Given the description of an element on the screen output the (x, y) to click on. 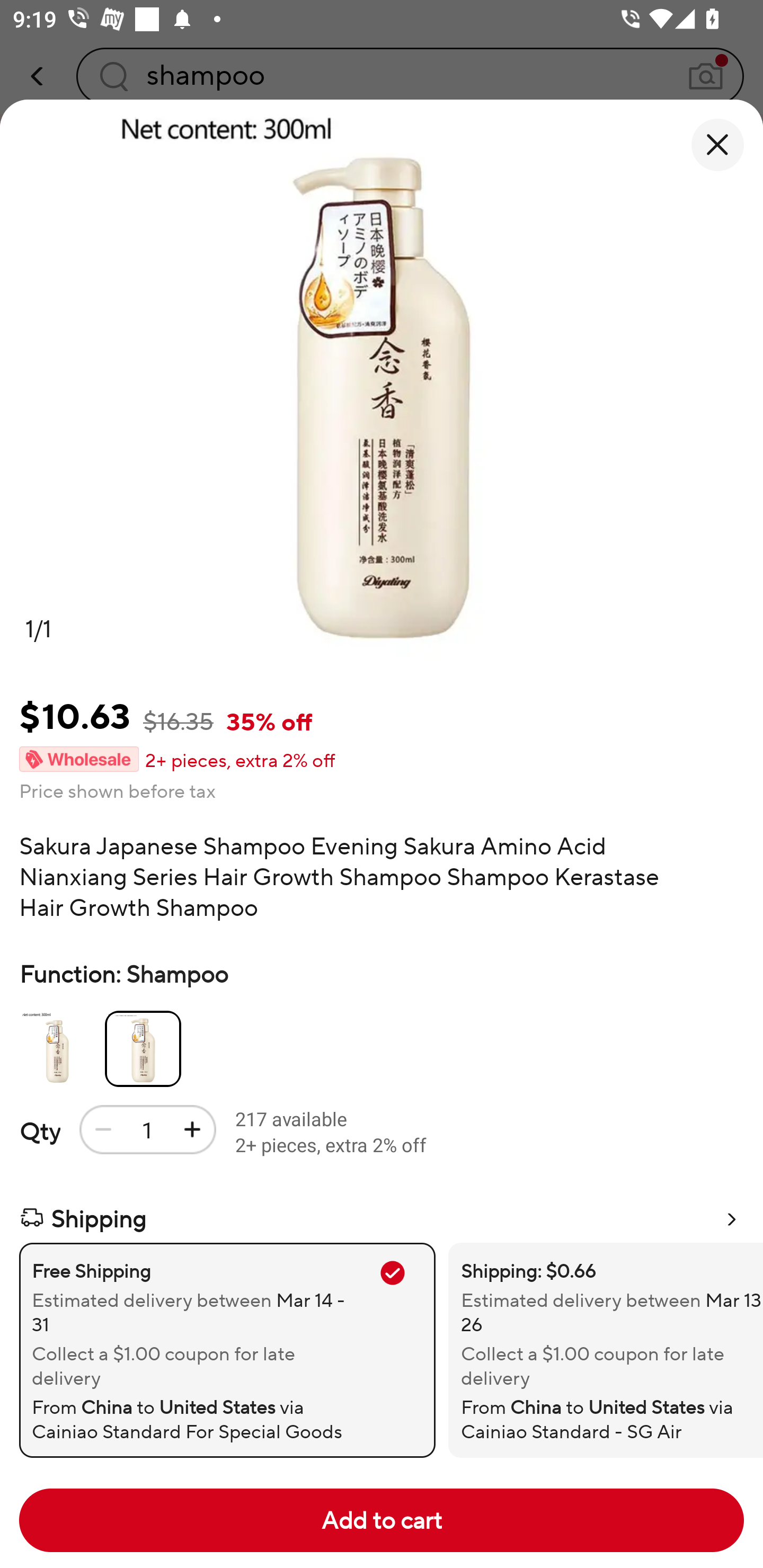
close  (717, 144)
Add to cart (381, 1520)
